Given the description of an element on the screen output the (x, y) to click on. 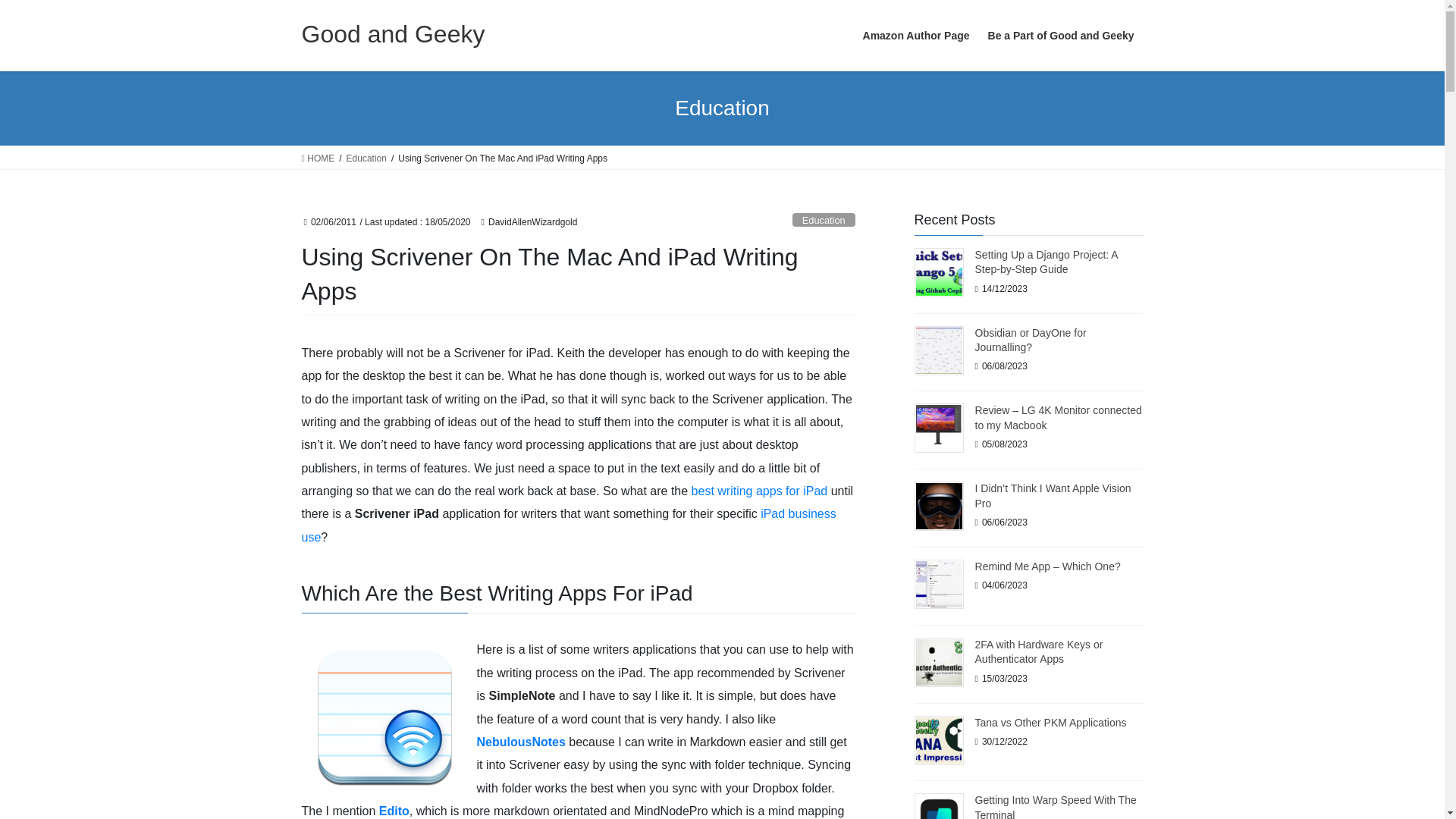
HOME (317, 157)
Education (824, 219)
Be a Part of Good and Geeky (1060, 36)
Good and Geeky (392, 33)
best writing apps for iPad (759, 490)
iPad business use (568, 524)
No We Dont Need Office for iPad (759, 490)
Which text editor to use with the iPad (393, 810)
Edito (393, 810)
NebulousNotes (520, 741)
Amazon Author Page (915, 36)
Education (366, 157)
